Given the description of an element on the screen output the (x, y) to click on. 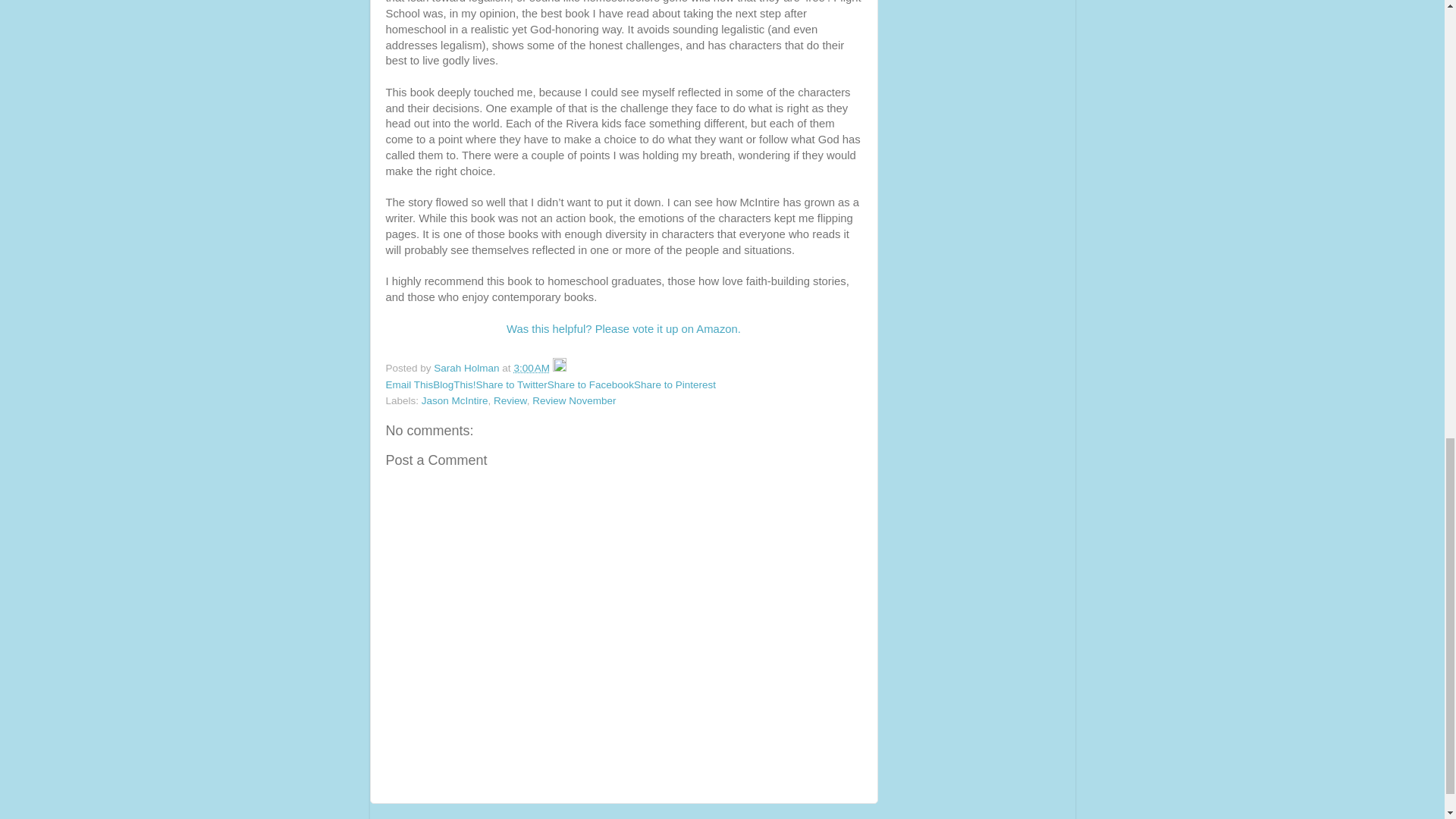
Share to Facebook (590, 384)
Sarah Holman (467, 367)
permanent link (531, 367)
Share to Twitter (511, 384)
Share to Twitter (511, 384)
BlogThis! (454, 384)
Review November (573, 400)
Share to Pinterest (674, 384)
author profile (467, 367)
Edit Post (559, 367)
Share to Facebook (590, 384)
Email This (408, 384)
Share to Pinterest (674, 384)
Review (510, 400)
BlogThis! (454, 384)
